Given the description of an element on the screen output the (x, y) to click on. 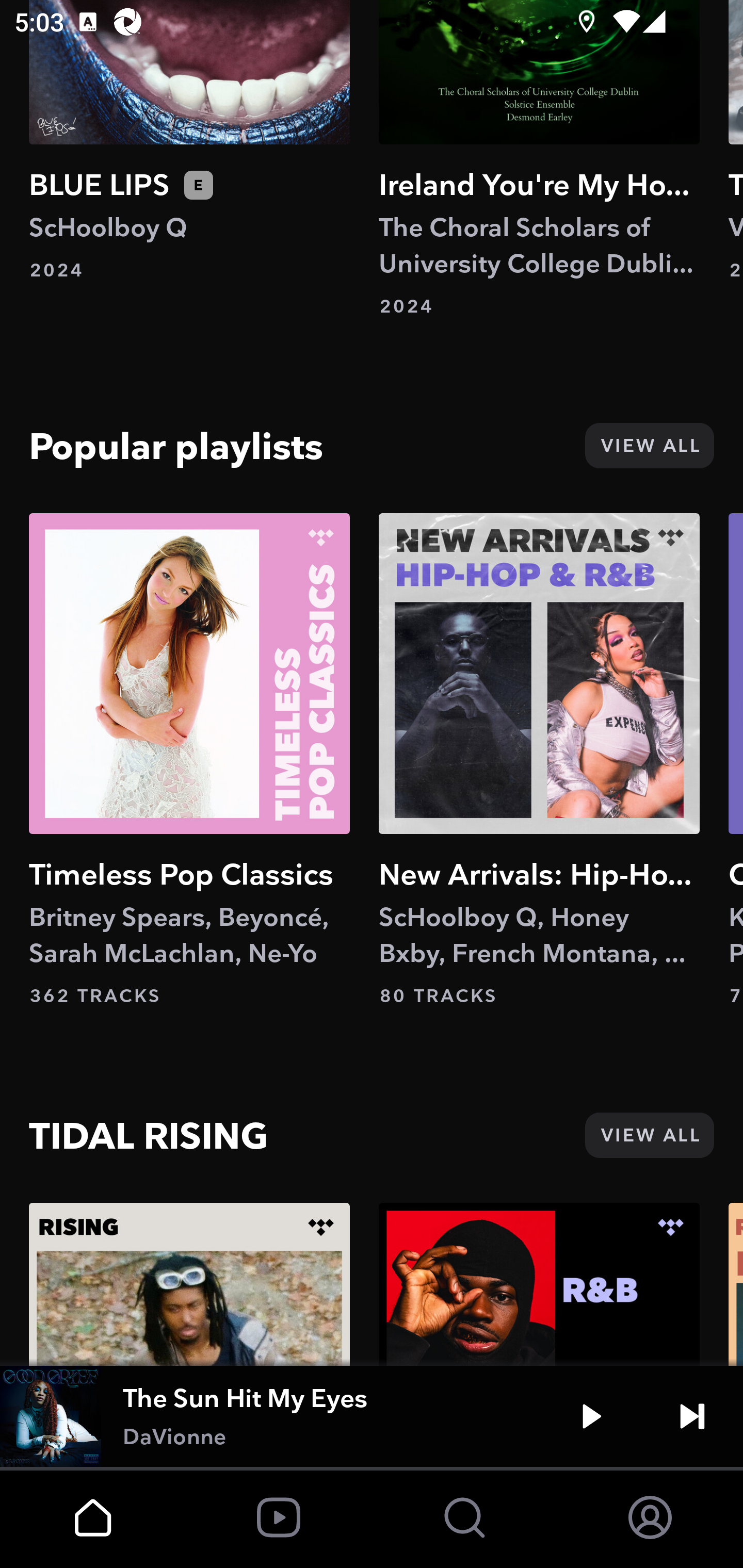
BLUE LIPS ScHoolboy Q 2024 (188, 141)
VIEW ALL (649, 445)
VIEW ALL (649, 1135)
The Sun Hit My Eyes DaVionne Play (371, 1416)
Play (590, 1416)
